Given the description of an element on the screen output the (x, y) to click on. 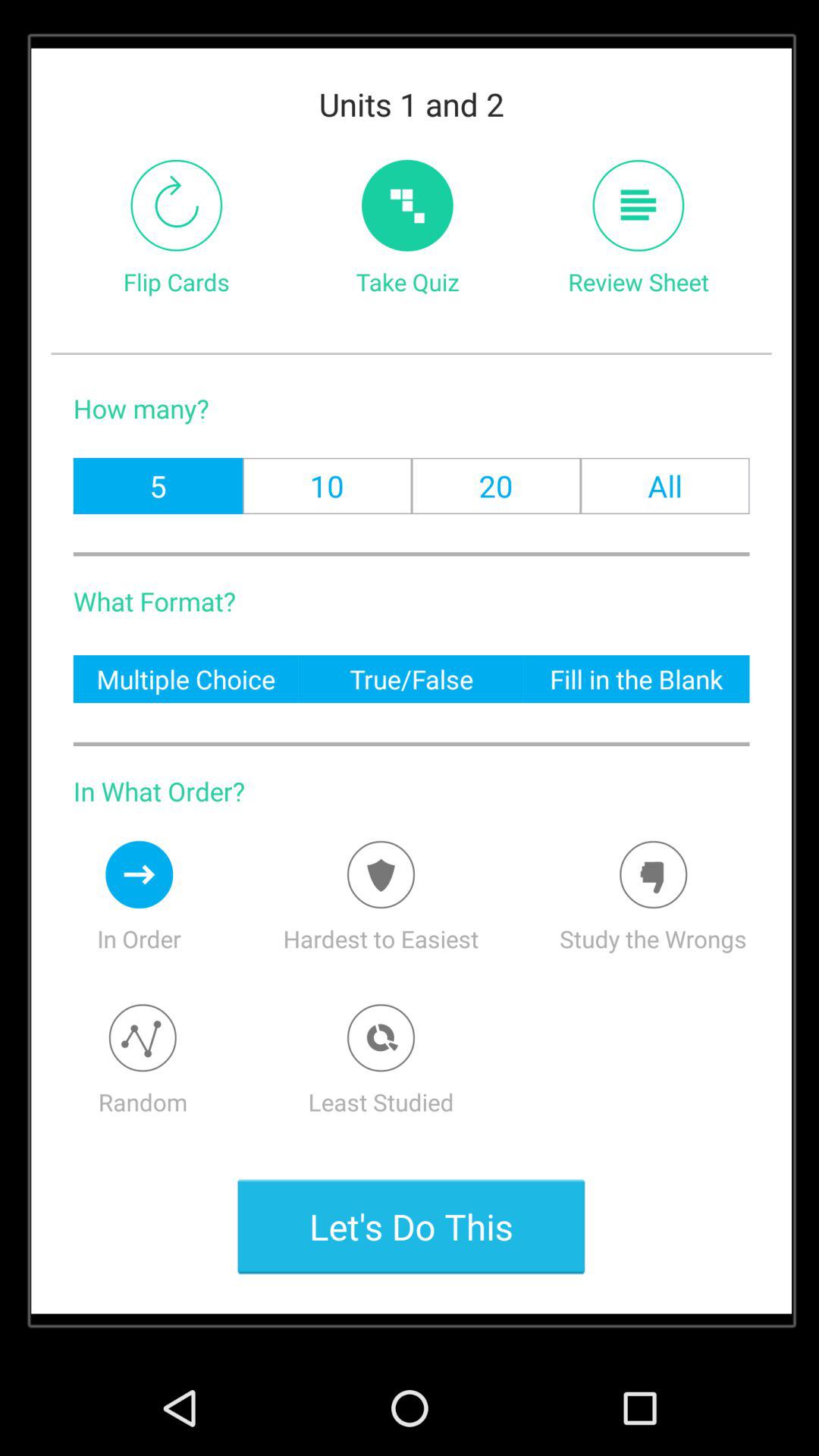
click the icon to the left of fill in the (410, 678)
